Given the description of an element on the screen output the (x, y) to click on. 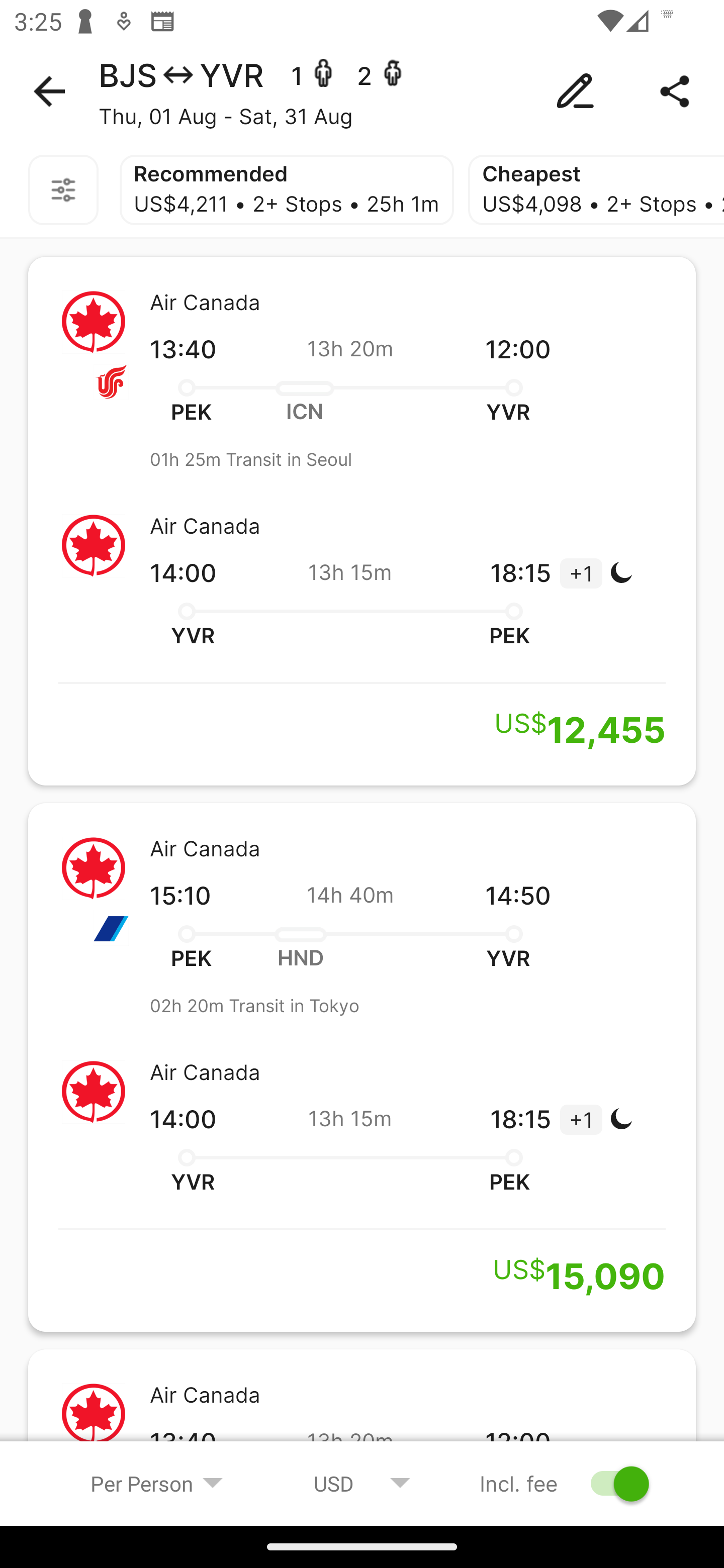
BJS YVR   1 -   2 - Thu, 01 Aug - Sat, 31 Aug (361, 91)
Recommended  US$4,211 • 2+ Stops • 25h 1m (286, 190)
Cheapest US$4,098 • 2+ Stops • 25h 16m (596, 190)
Per Person (156, 1482)
USD (361, 1482)
